Given the description of an element on the screen output the (x, y) to click on. 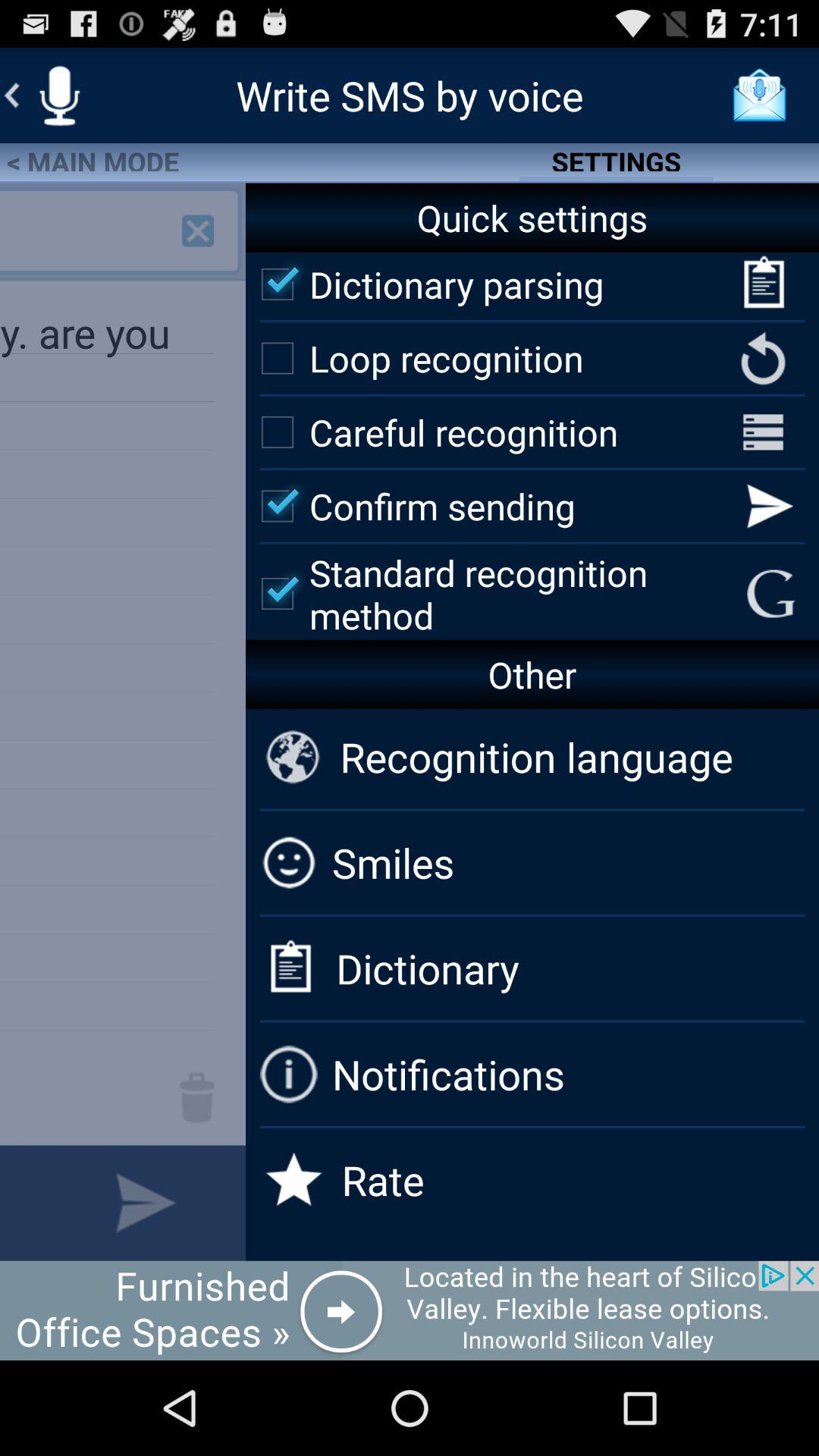
delete (197, 1097)
